Given the description of an element on the screen output the (x, y) to click on. 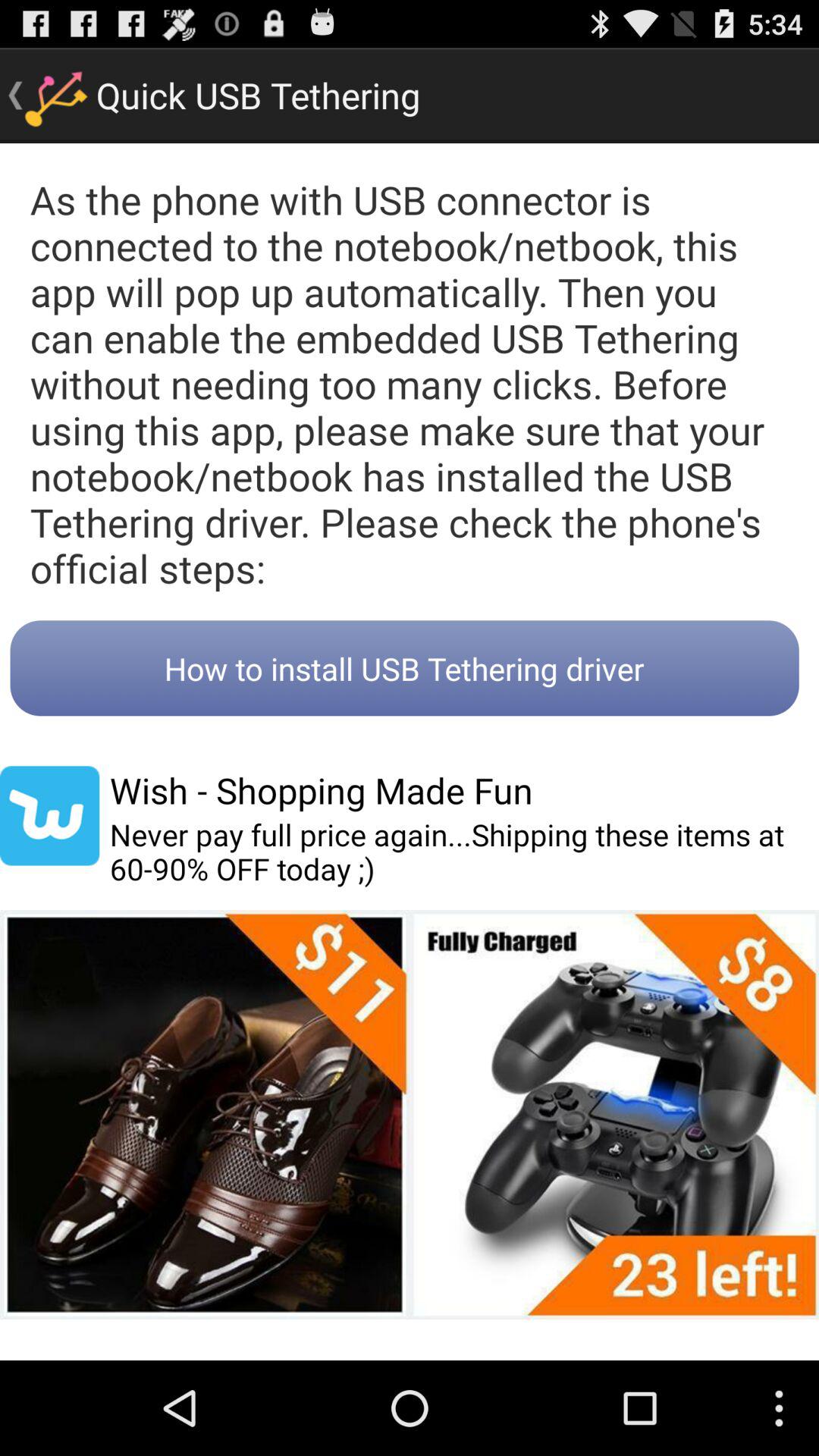
select app to the left of the wish shopping made item (49, 815)
